Given the description of an element on the screen output the (x, y) to click on. 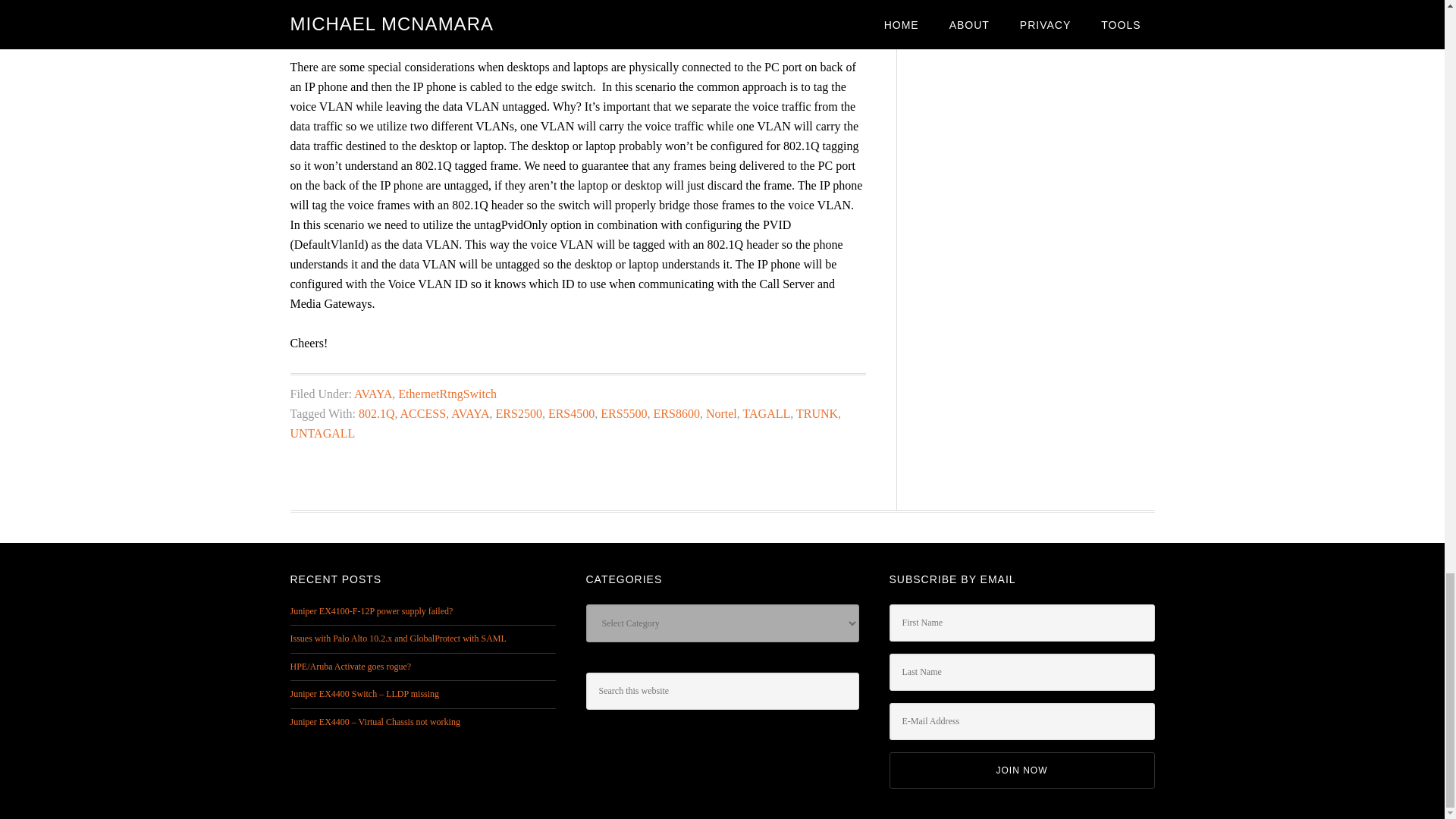
AVAYA (372, 393)
ERS5500 (622, 413)
ERS2500 (518, 413)
EthernetRtngSwitch (446, 393)
AVAYA (470, 413)
ERS8600 (676, 413)
TAGALL (766, 413)
Join Now (1021, 770)
ERS4500 (571, 413)
TRUNK (817, 413)
UNTAGALL (322, 432)
802.1Q (376, 413)
Nortel (721, 413)
